Given the description of an element on the screen output the (x, y) to click on. 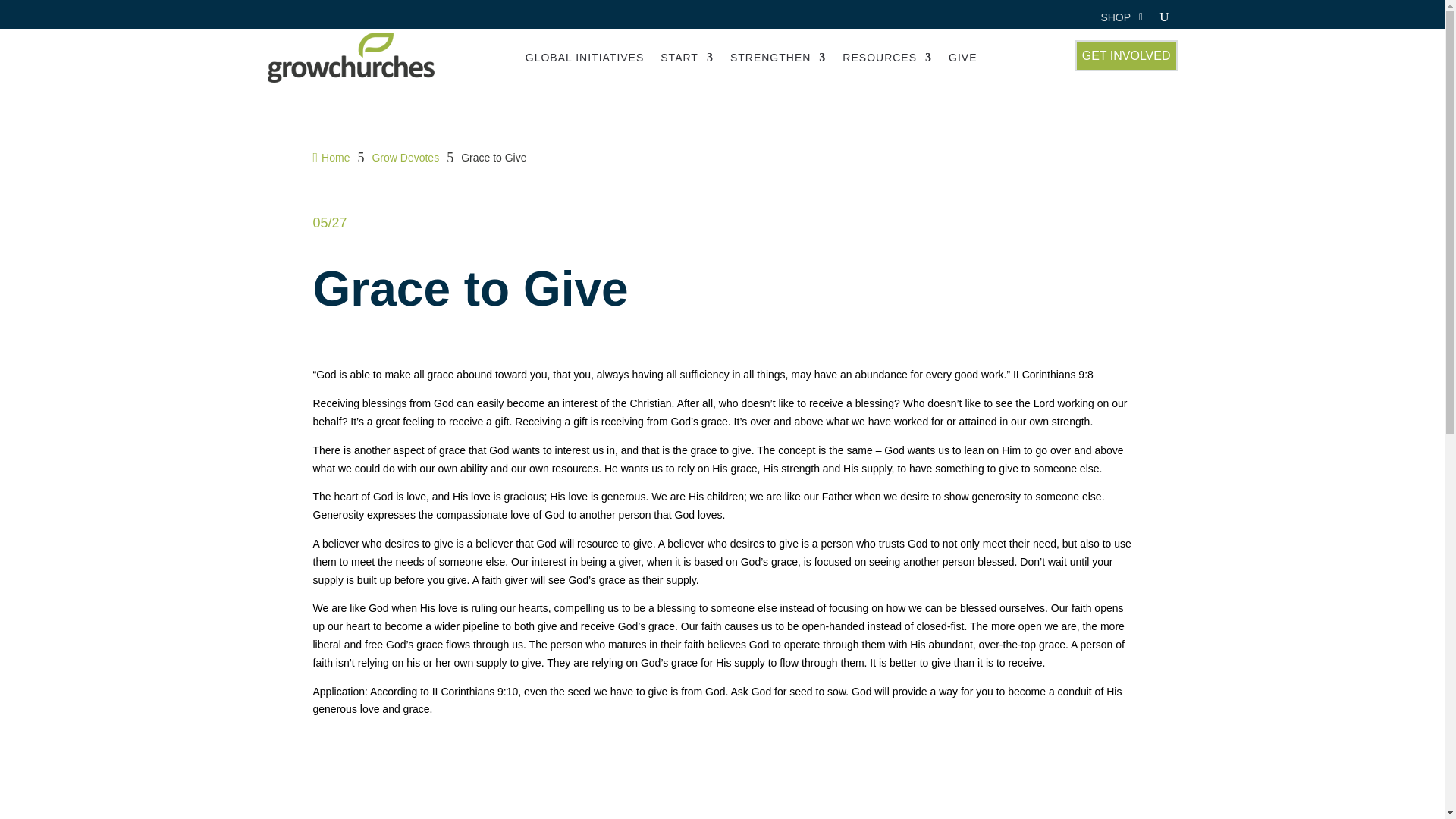
STRENGTHEN (777, 57)
GLOBAL INITIATIVES (584, 57)
RESOURCES (887, 57)
START (687, 57)
SHOP (1115, 20)
